Given the description of an element on the screen output the (x, y) to click on. 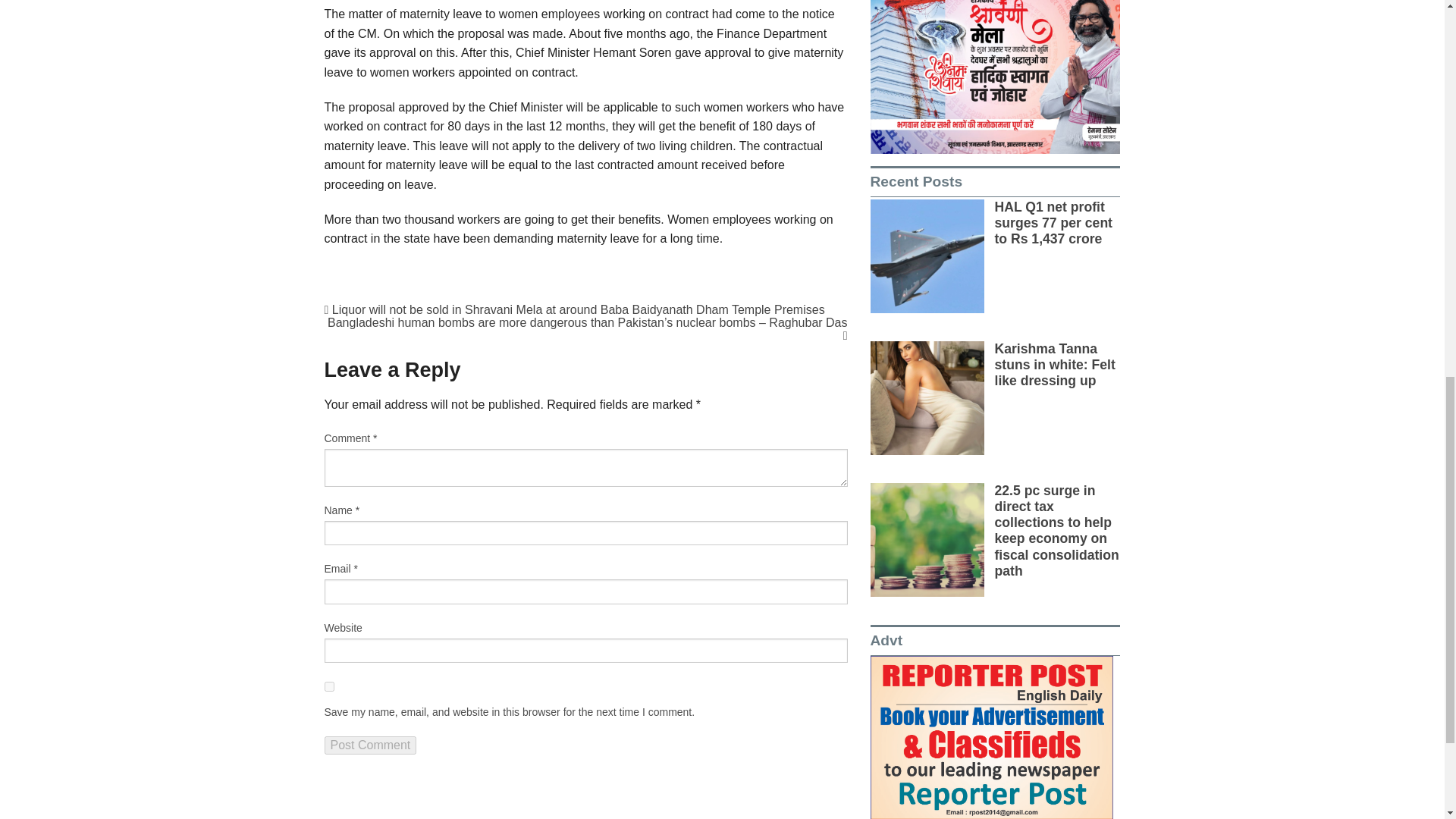
Post Comment (370, 745)
yes (329, 686)
HAL Q1 net profit surges 77 per cent to Rs 1,437 crore (1053, 222)
Karishma Tanna stuns in white: Felt like dressing up (1054, 364)
Karishma Tanna stuns in white: Felt like dressing up (927, 398)
Post Comment (370, 745)
HAL Q1 net profit surges 77 per cent to Rs 1,437 crore (927, 255)
